Given the description of an element on the screen output the (x, y) to click on. 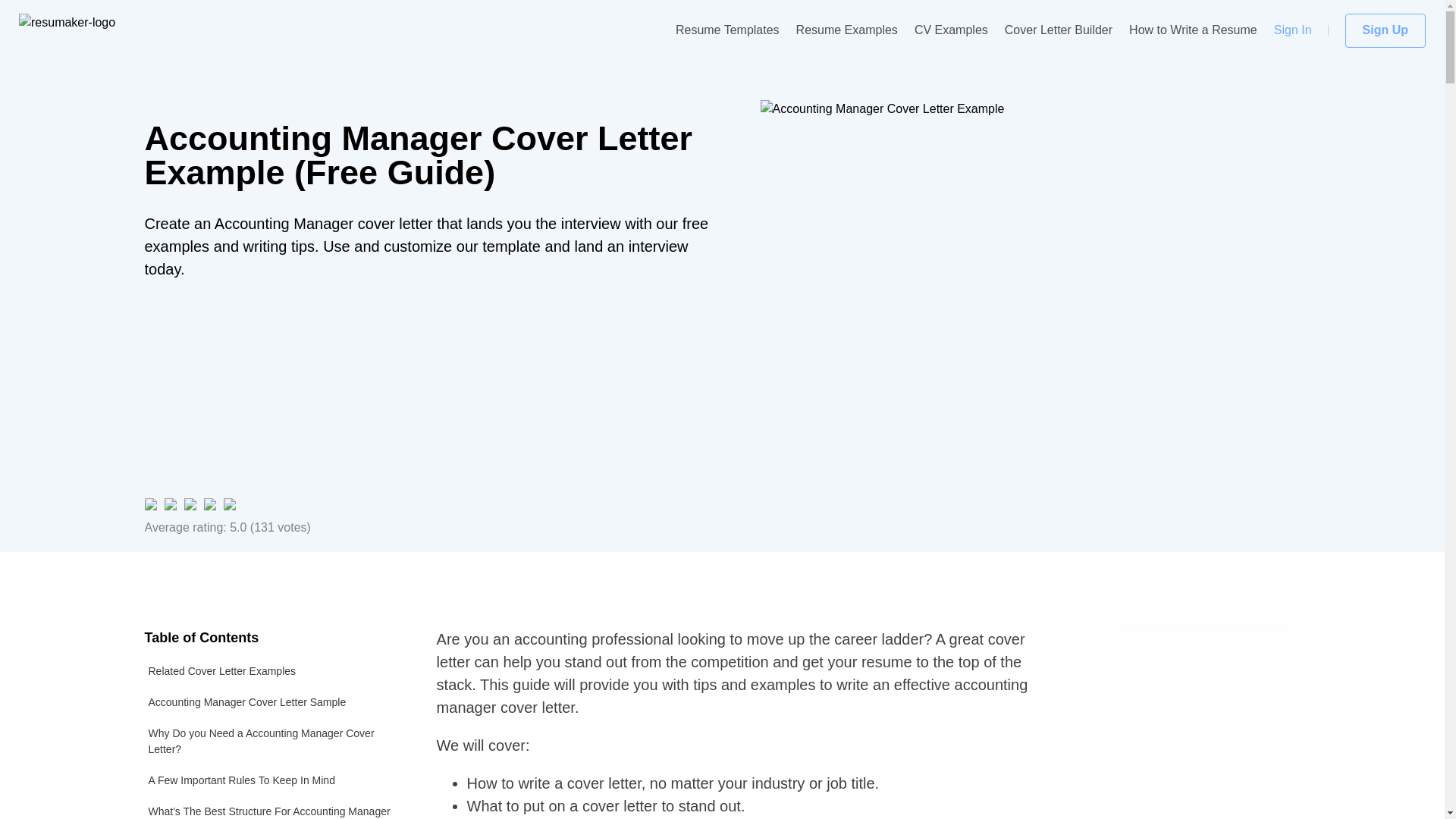
Related Cover Letter Examples (270, 671)
How to Write a Resume (1193, 30)
Why Do you Need a Accounting Manager Cover Letter? (270, 741)
A Few Important Rules To Keep In Mind (270, 780)
Accounting Manager Cover Letter Sample (270, 702)
Resume Templates (726, 30)
Cover Letter Builder (1058, 30)
CV Examples (951, 30)
Resume Examples (847, 30)
